Given the description of an element on the screen output the (x, y) to click on. 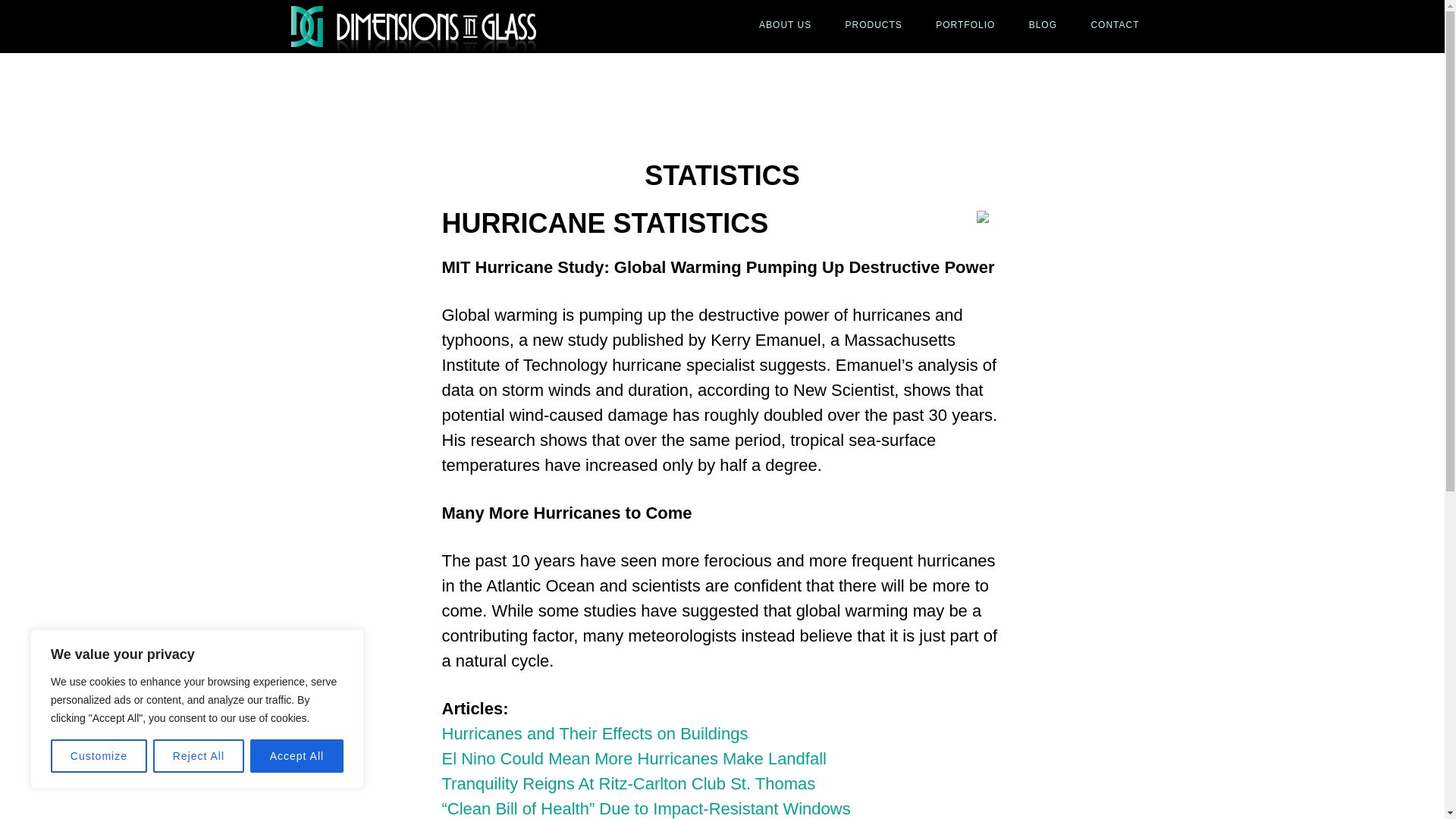
El Nino Could Mean More Hurricanes Make Landfall (633, 758)
PORTFOLIO (965, 24)
Accept All (296, 756)
ABOUT US (785, 24)
Spanish (987, 216)
DIMENSIONS IN GLASS (425, 26)
Hurricanes and Their Effects on Buildings (594, 732)
BLOG (1042, 24)
CONTACT (1114, 24)
Reject All (198, 756)
